Given the description of an element on the screen output the (x, y) to click on. 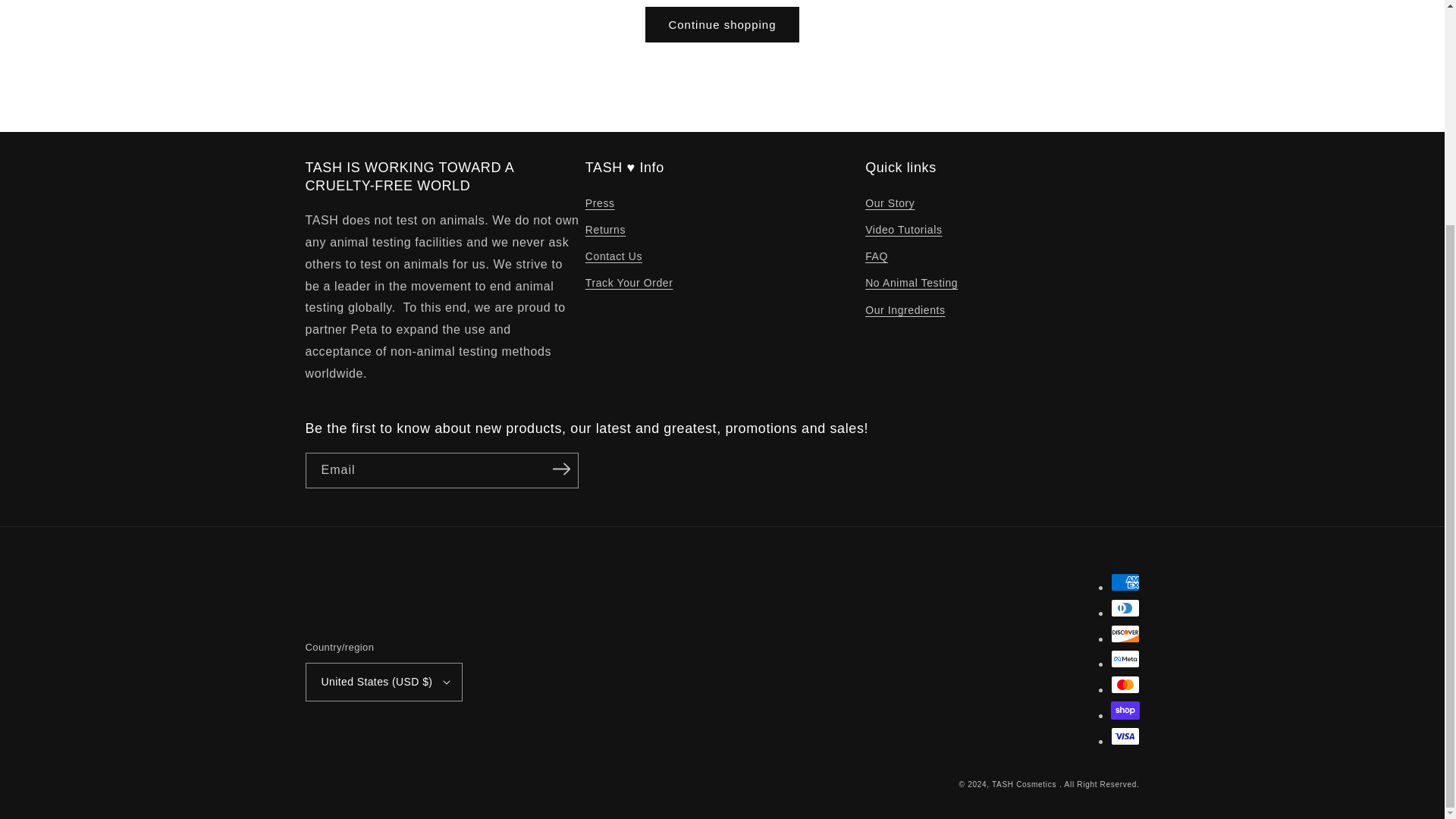
Our Story (889, 205)
American Express (1123, 582)
Mastercard (1123, 684)
Contact Us (613, 256)
Diners Club (1123, 607)
Track Your Order (628, 283)
Meta Pay (1123, 659)
Discover (1123, 633)
Visa (1123, 736)
Shop Pay (1123, 710)
